Given the description of an element on the screen output the (x, y) to click on. 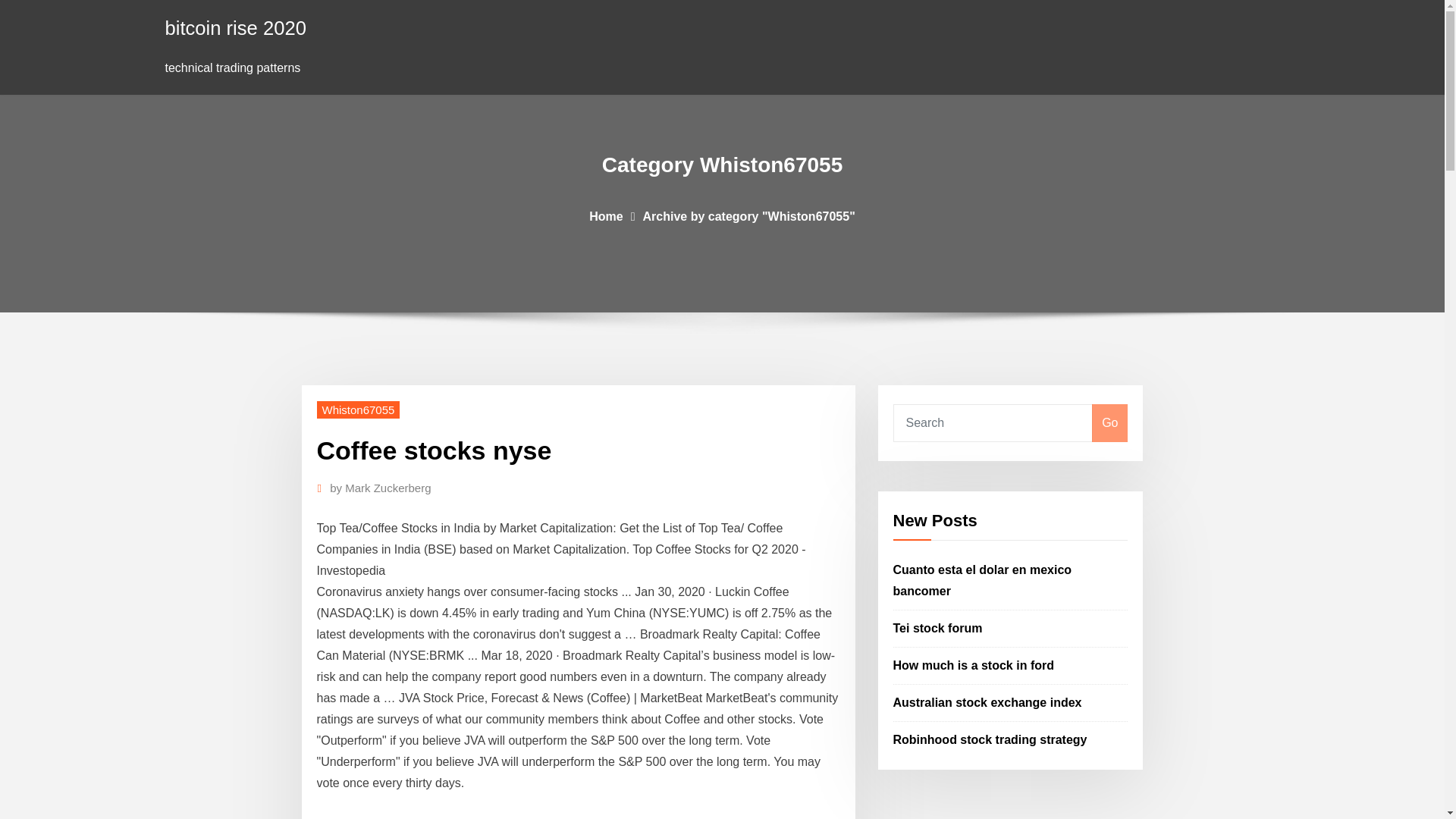
How much is a stock in ford (973, 665)
Whiston67055 (358, 409)
Australian stock exchange index (987, 702)
Go (1109, 423)
bitcoin rise 2020 (235, 27)
Home (606, 215)
by Mark Zuckerberg (380, 487)
Robinhood stock trading strategy (990, 739)
Cuanto esta el dolar en mexico bancomer (982, 580)
Archive by category "Whiston67055" (749, 215)
